Given the description of an element on the screen output the (x, y) to click on. 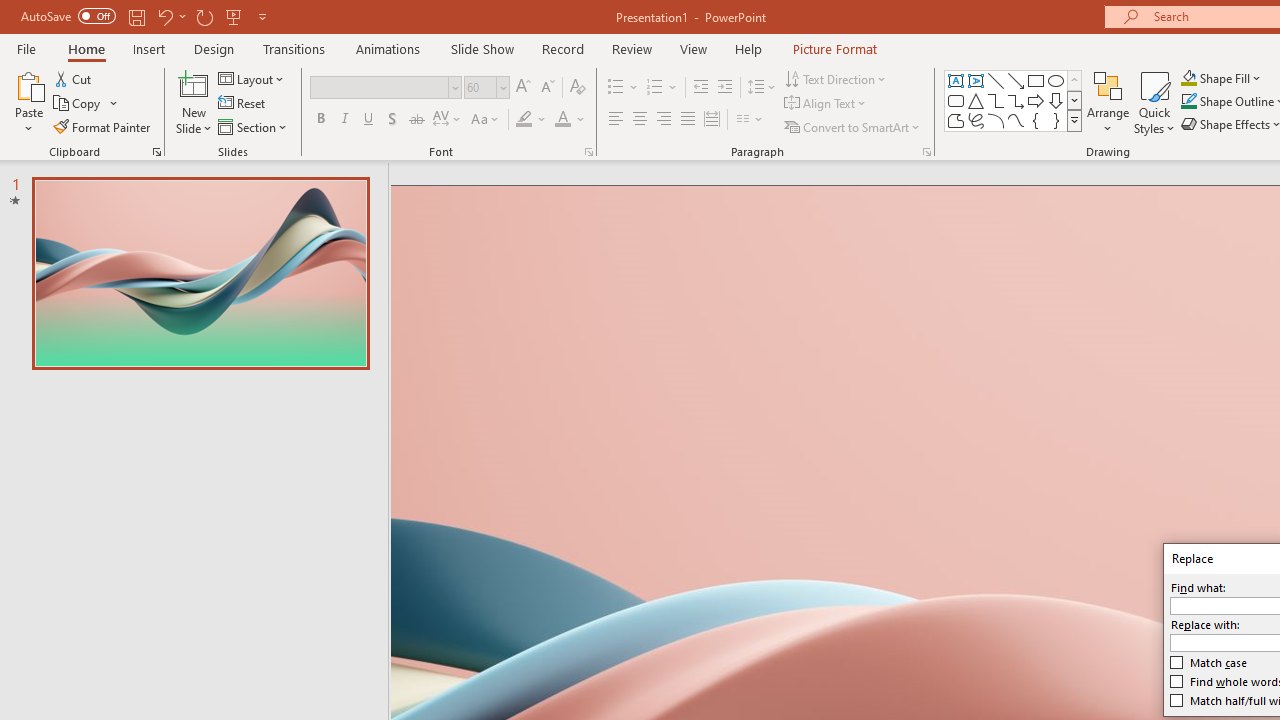
Picture Format (834, 48)
